Given the description of an element on the screen output the (x, y) to click on. 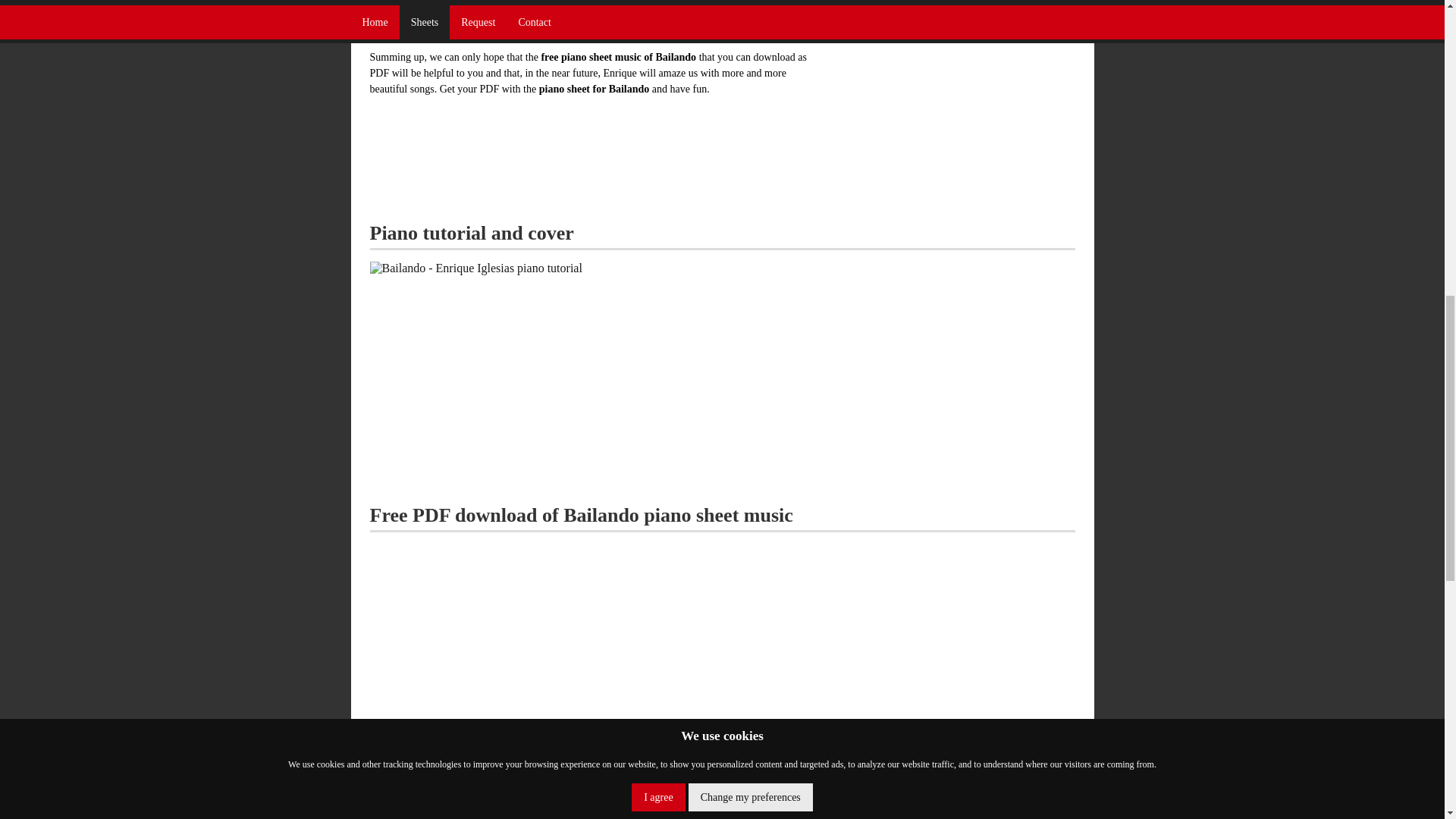
The Power Of Love - Celine Dion (890, 17)
The Power Of Love - Celine Dion (945, 18)
Bailando - Enrique Iglesias piano tutorial (475, 268)
